Given the description of an element on the screen output the (x, y) to click on. 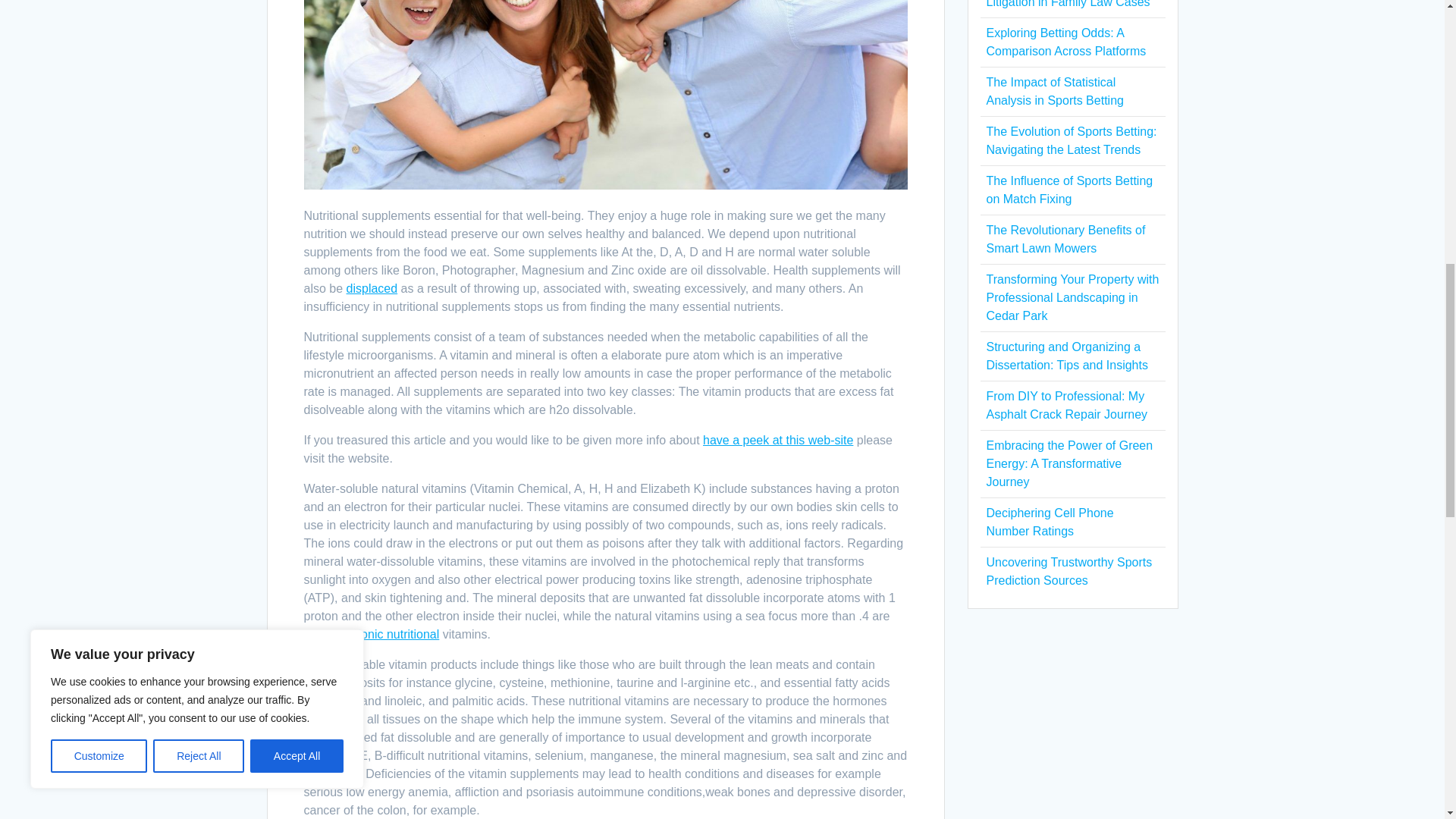
ionic nutritional (398, 634)
Exploring Betting Odds: A Comparison Across Platforms (1065, 41)
Choosing Mediation Over Litigation in Family Law Cases (1067, 4)
displaced (371, 287)
The Impact of Statistical Analysis in Sports Betting (1053, 91)
have a peek at this web-site (778, 440)
